Given the description of an element on the screen output the (x, y) to click on. 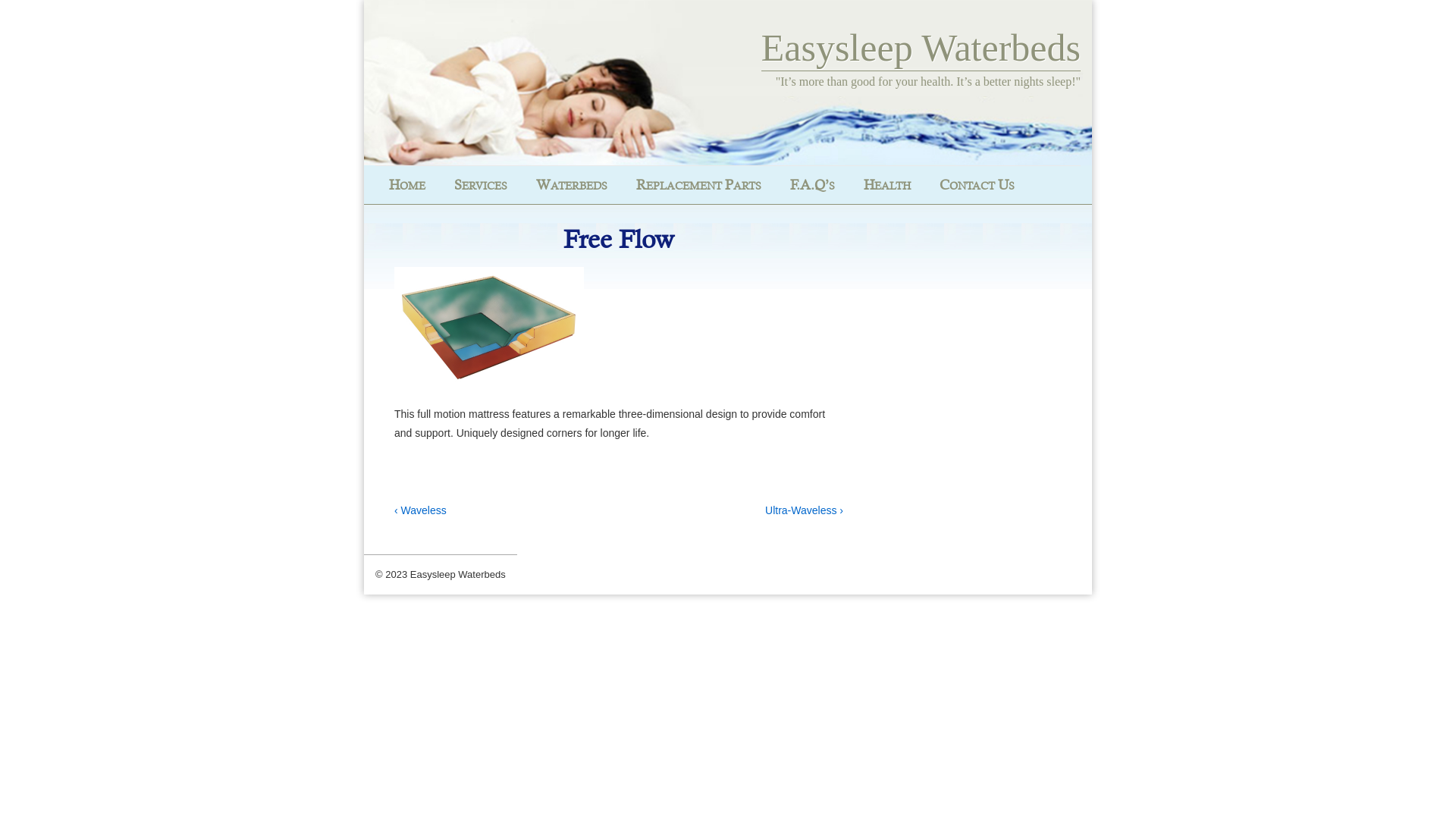
Easysleep Waterbeds Element type: text (920, 48)
SERVICES Element type: text (480, 179)
REPLACEMENT PARTS Element type: text (698, 179)
HEALTH Element type: text (887, 179)
CONTACT US Element type: text (976, 179)
WATERBEDS Element type: text (571, 179)
HOME Element type: text (407, 179)
Easysleep Waterbeds Element type: text (457, 574)
